Given the description of an element on the screen output the (x, y) to click on. 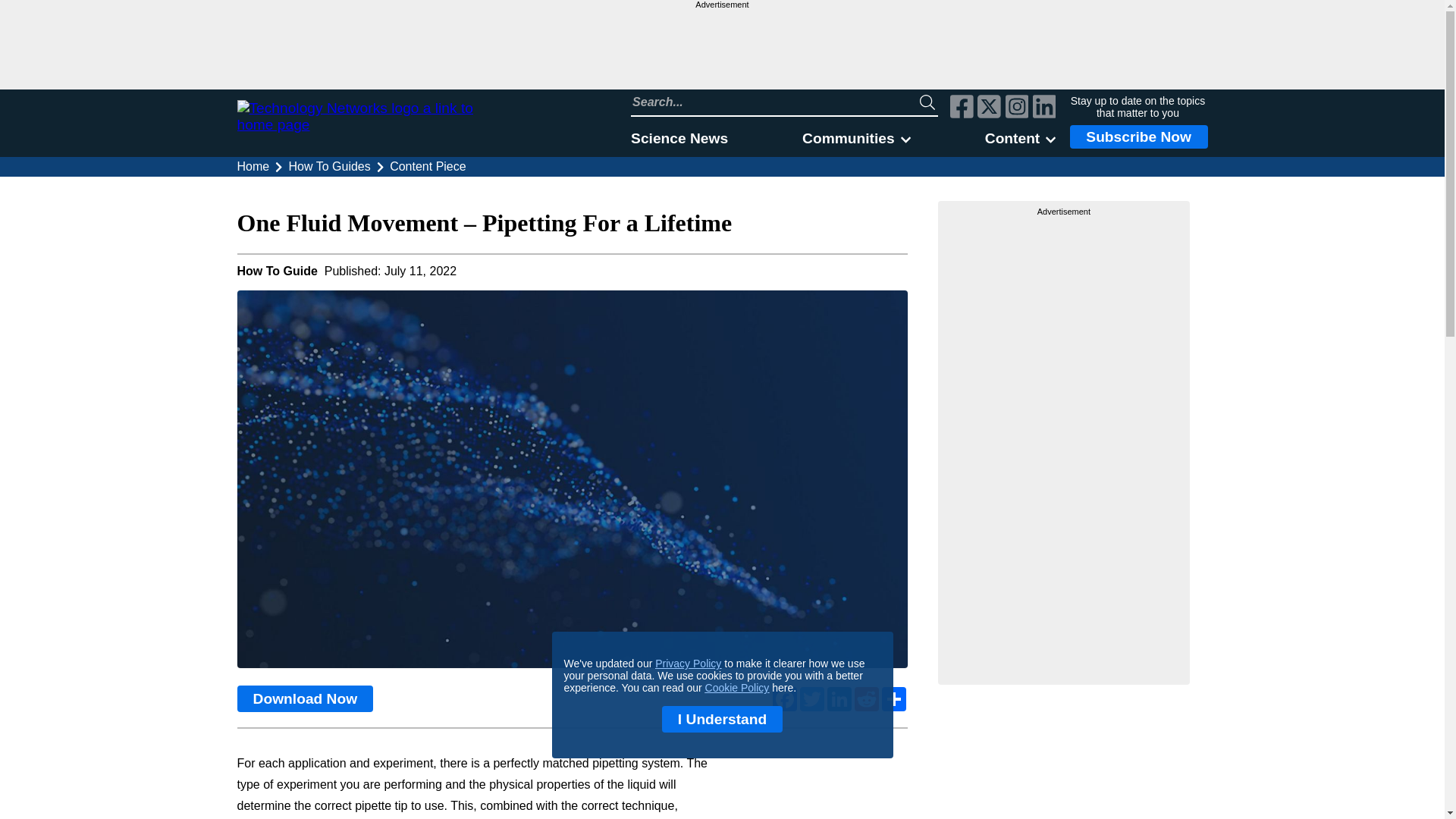
Search Technology Networks website input field (775, 102)
I Understand (722, 718)
Cookie Policy (737, 687)
Privacy Policy (687, 663)
Technology Networks logo a link to home page (373, 122)
3rd party ad content (721, 49)
